Given the description of an element on the screen output the (x, y) to click on. 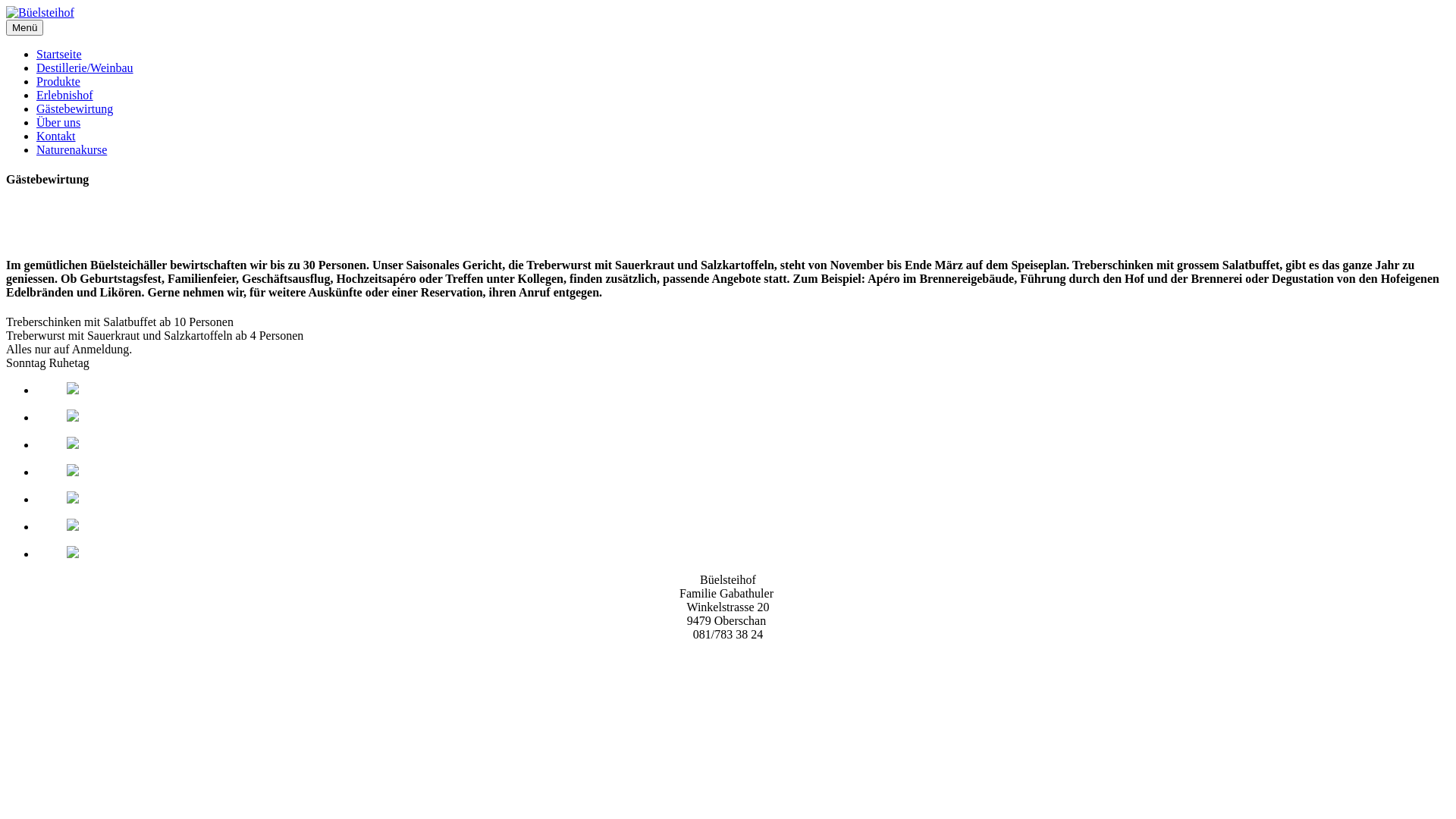
Erlebnishof Element type: text (64, 94)
Destillerie/Weinbau Element type: text (84, 67)
Kontakt Element type: text (55, 135)
Produkte Element type: text (58, 81)
Naturenakurse Element type: text (71, 149)
Startseite Element type: text (58, 53)
